Given the description of an element on the screen output the (x, y) to click on. 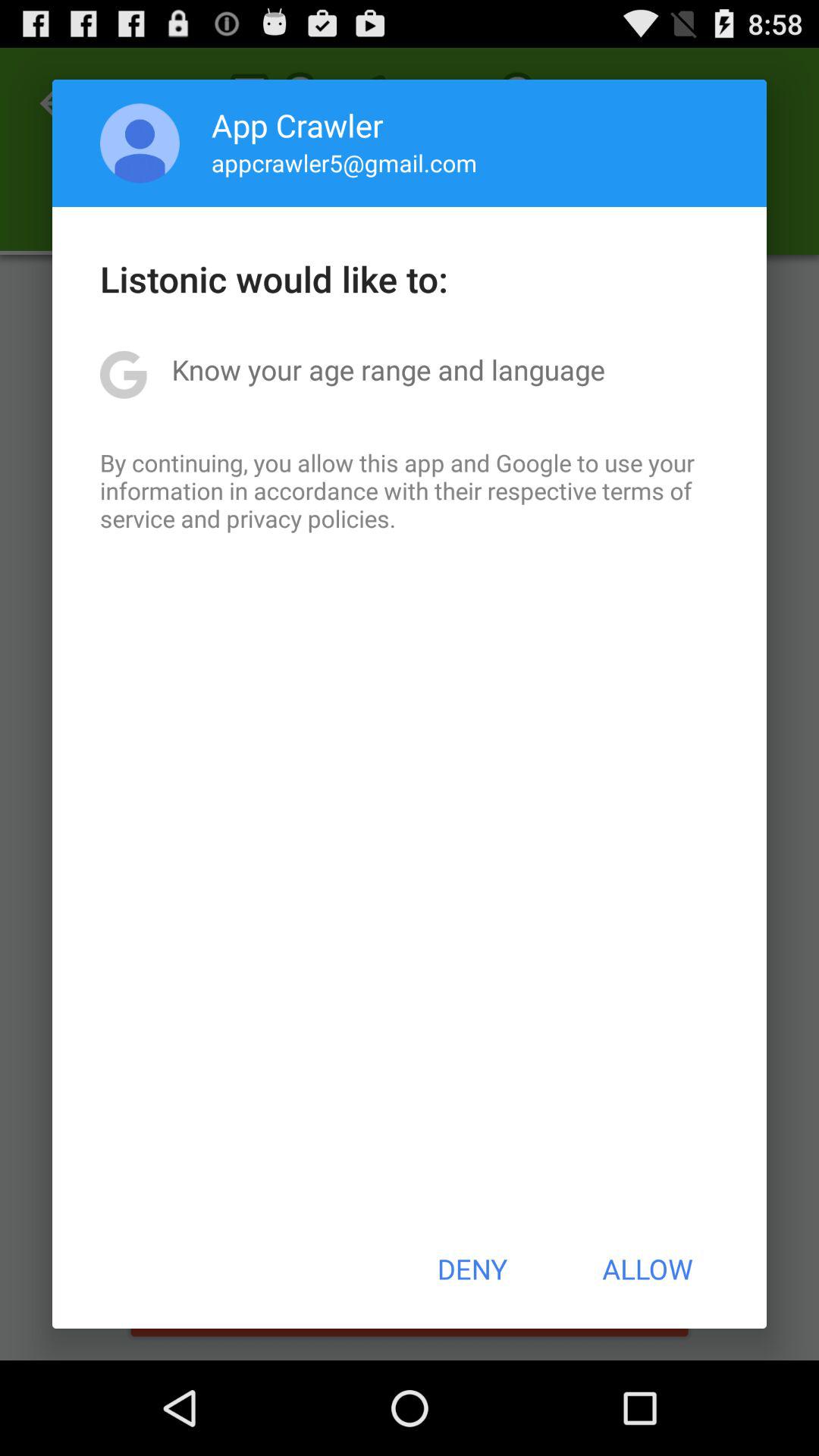
press the item to the left of the app crawler (139, 143)
